Given the description of an element on the screen output the (x, y) to click on. 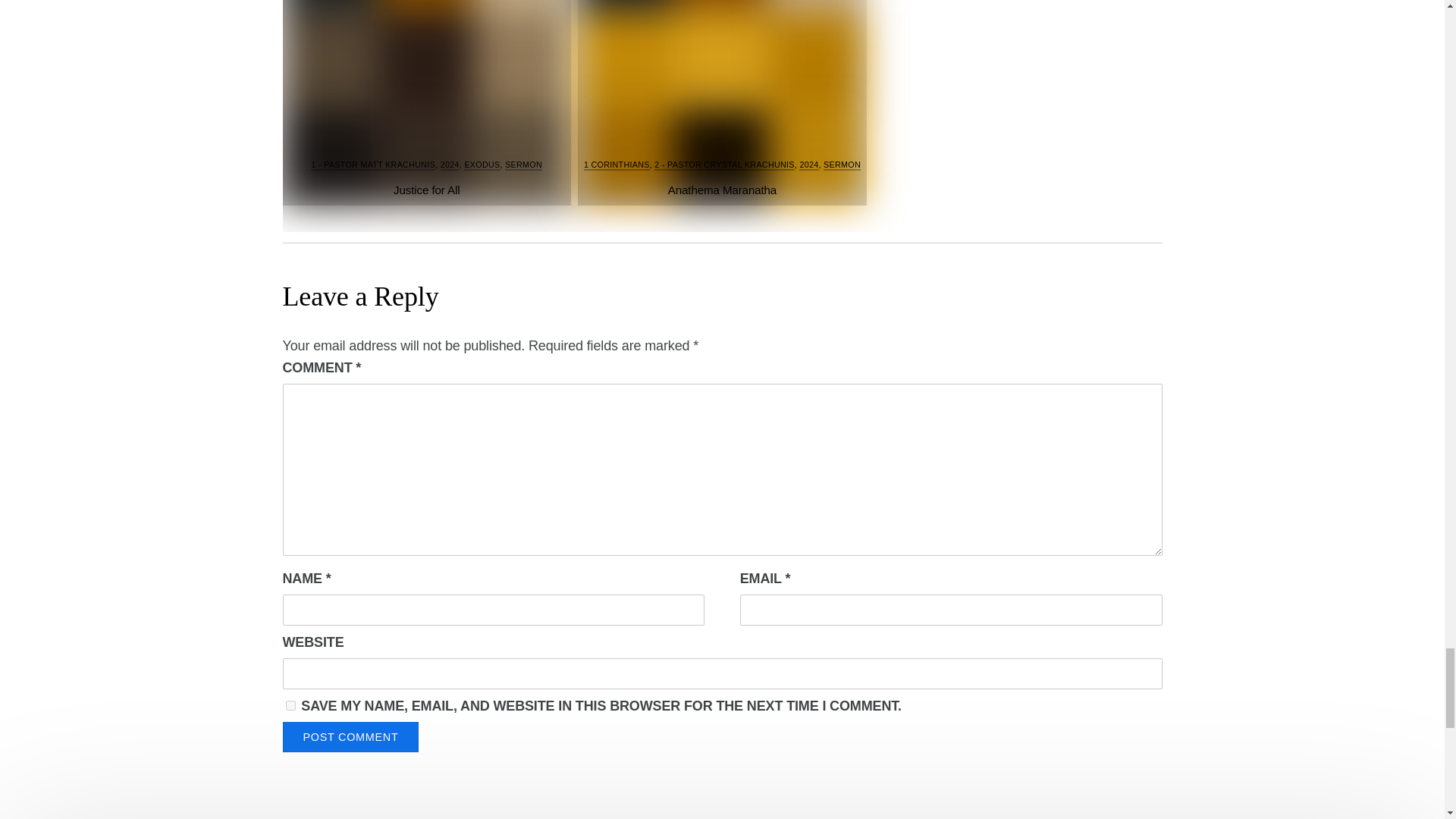
yes (290, 706)
AnathemaWS (722, 103)
Post Comment (350, 736)
JusticeAllWS (426, 103)
Justice for All (426, 189)
Anathema Maranatha (722, 189)
